Given the description of an element on the screen output the (x, y) to click on. 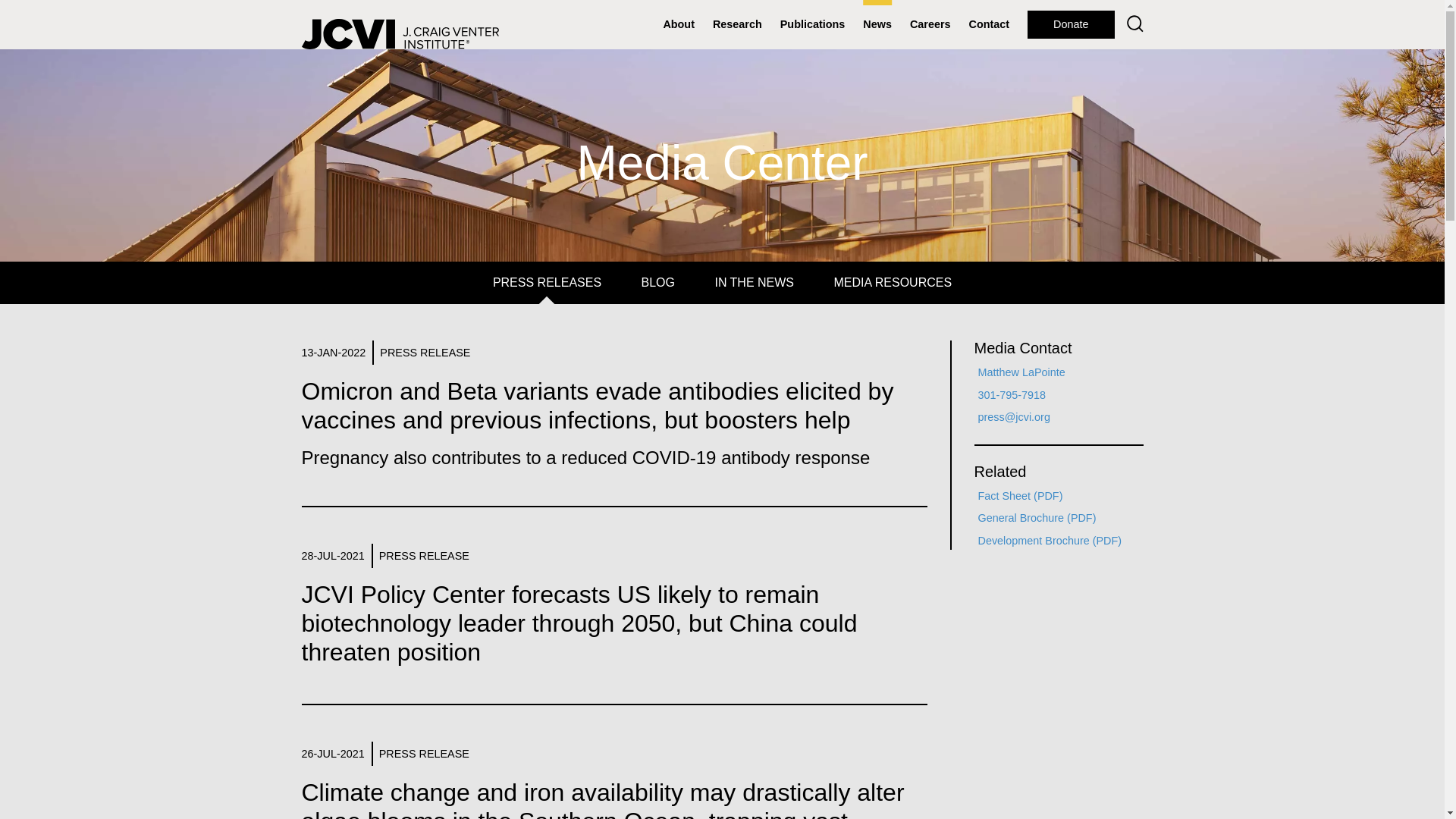
Donate (1070, 24)
BLOG (658, 282)
PRESS RELEASES (547, 282)
News (877, 24)
Contact (989, 24)
Research (737, 24)
Publications (812, 24)
MEDIA RESOURCES (893, 282)
Careers (930, 24)
About (678, 24)
IN THE NEWS (753, 282)
